Given the description of an element on the screen output the (x, y) to click on. 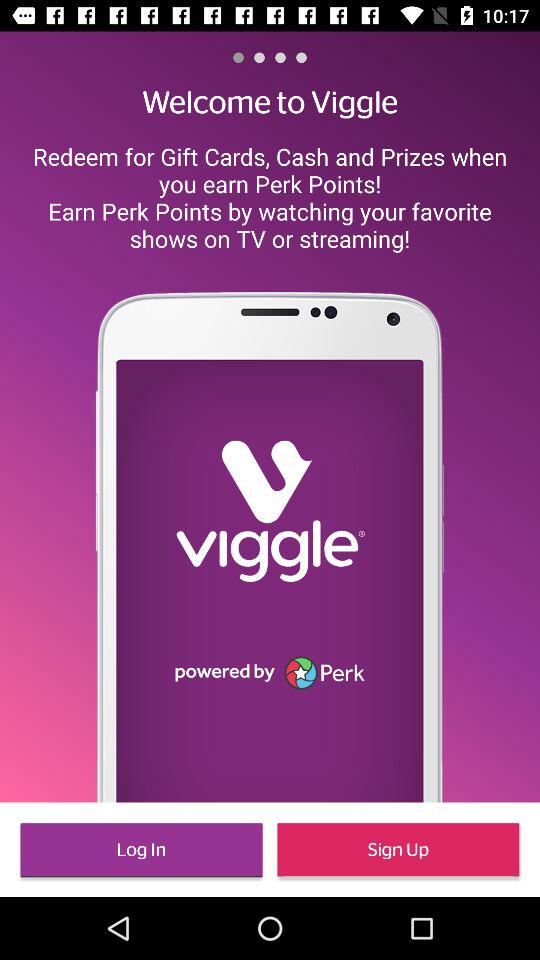
choose icon at the bottom left corner (141, 849)
